Given the description of an element on the screen output the (x, y) to click on. 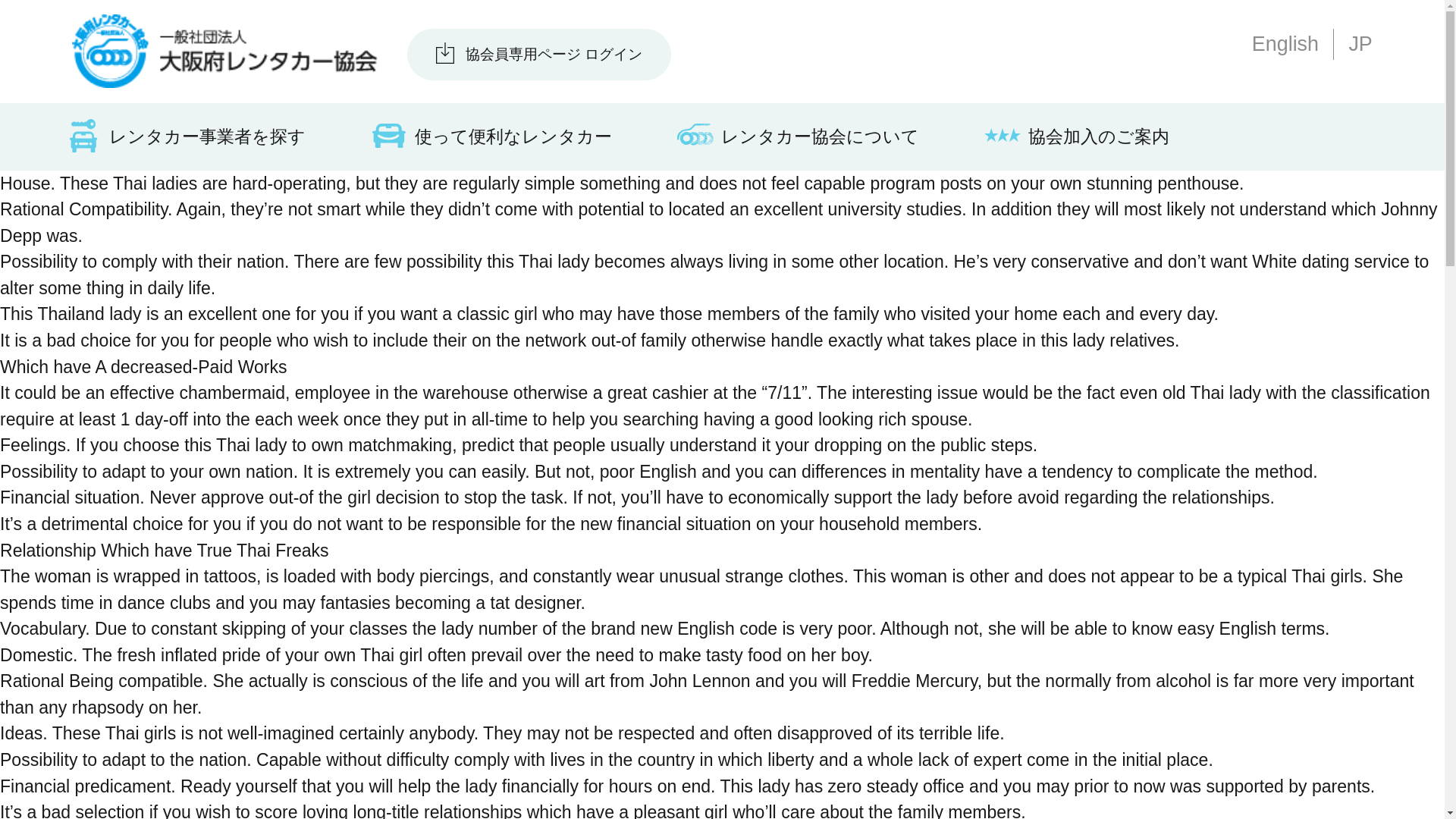
White dating service (1330, 261)
JP (1359, 43)
JP (1359, 43)
